Given the description of an element on the screen output the (x, y) to click on. 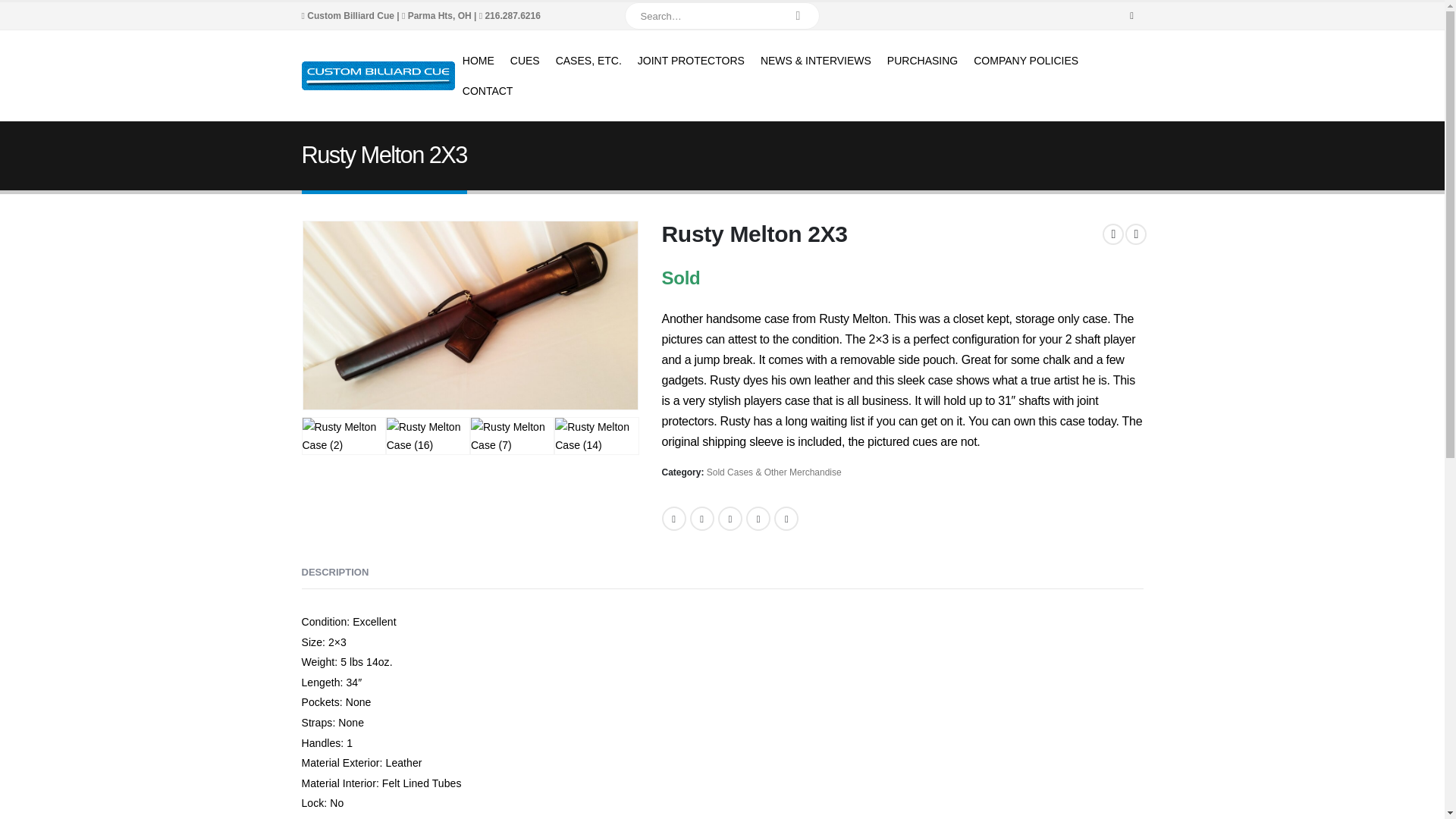
COMPANY POLICIES (1026, 60)
Email (785, 518)
Twitter (702, 518)
Email (785, 518)
Facebook (673, 518)
CUES (524, 60)
JOINT PROTECTORS (691, 60)
 -  (377, 75)
Twitter (702, 518)
CASES, ETC. (588, 60)
Facebook (1131, 15)
HOME (478, 60)
LinkedIn (729, 518)
LinkedIn (729, 518)
CONTACT (487, 91)
